Given the description of an element on the screen output the (x, y) to click on. 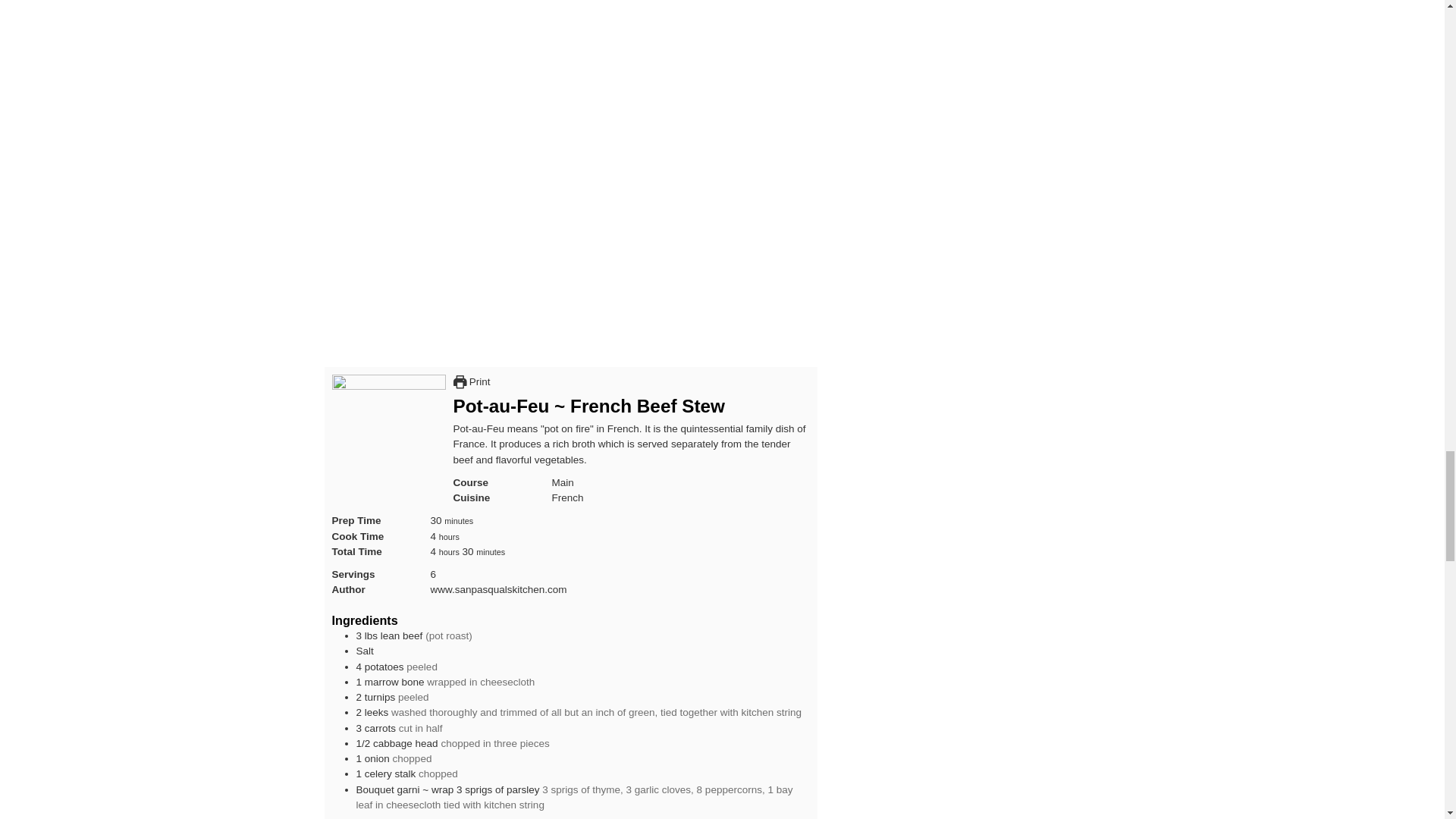
Print (471, 381)
